Given the description of an element on the screen output the (x, y) to click on. 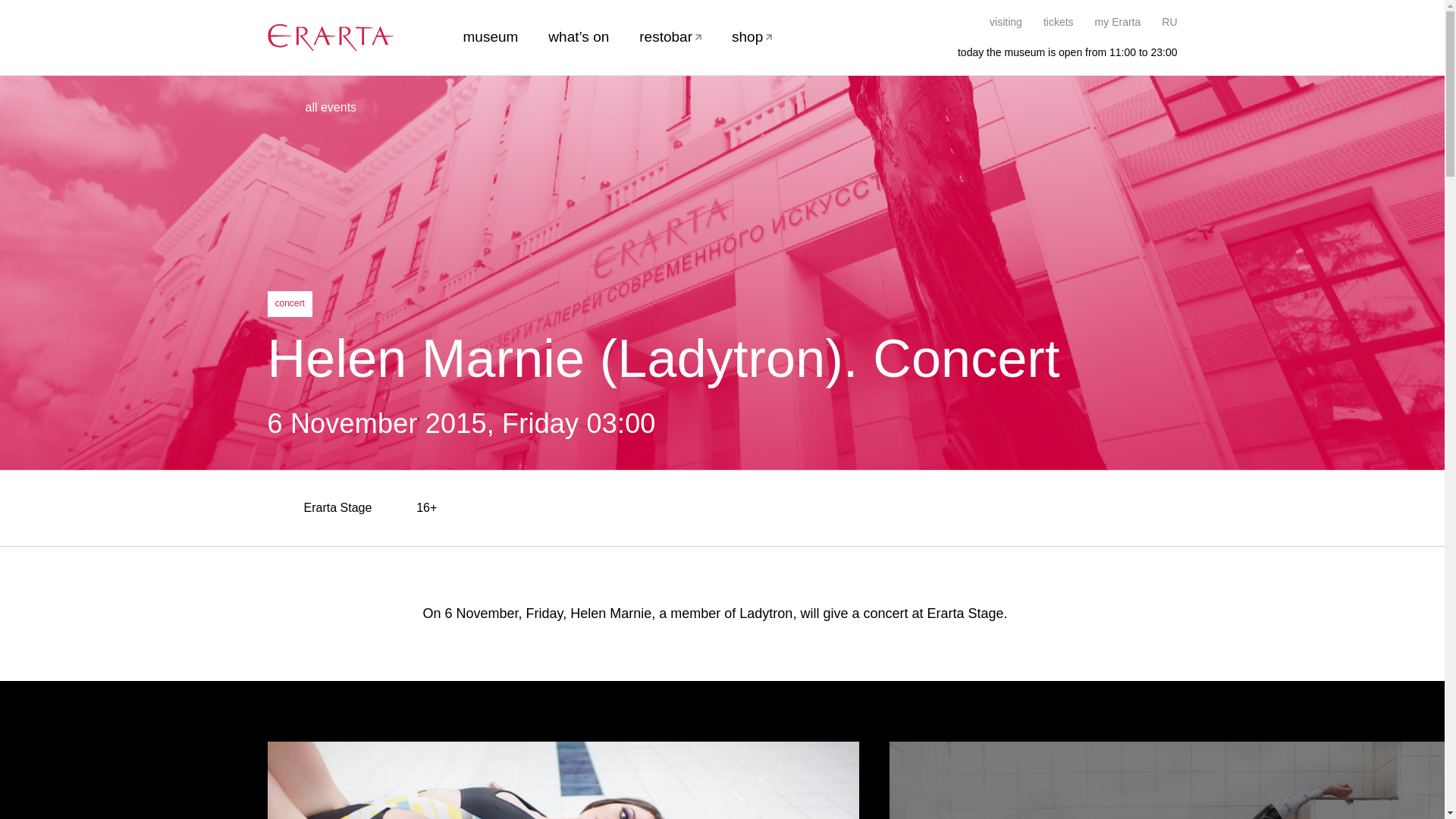
today the museum is open from 11:00 to 23:00 (1058, 51)
museum (490, 36)
restobar (670, 36)
shop (751, 36)
visiting (1006, 21)
RU (1168, 21)
my Erarta (1117, 21)
all events (311, 108)
tickets (1058, 21)
